Given the description of an element on the screen output the (x, y) to click on. 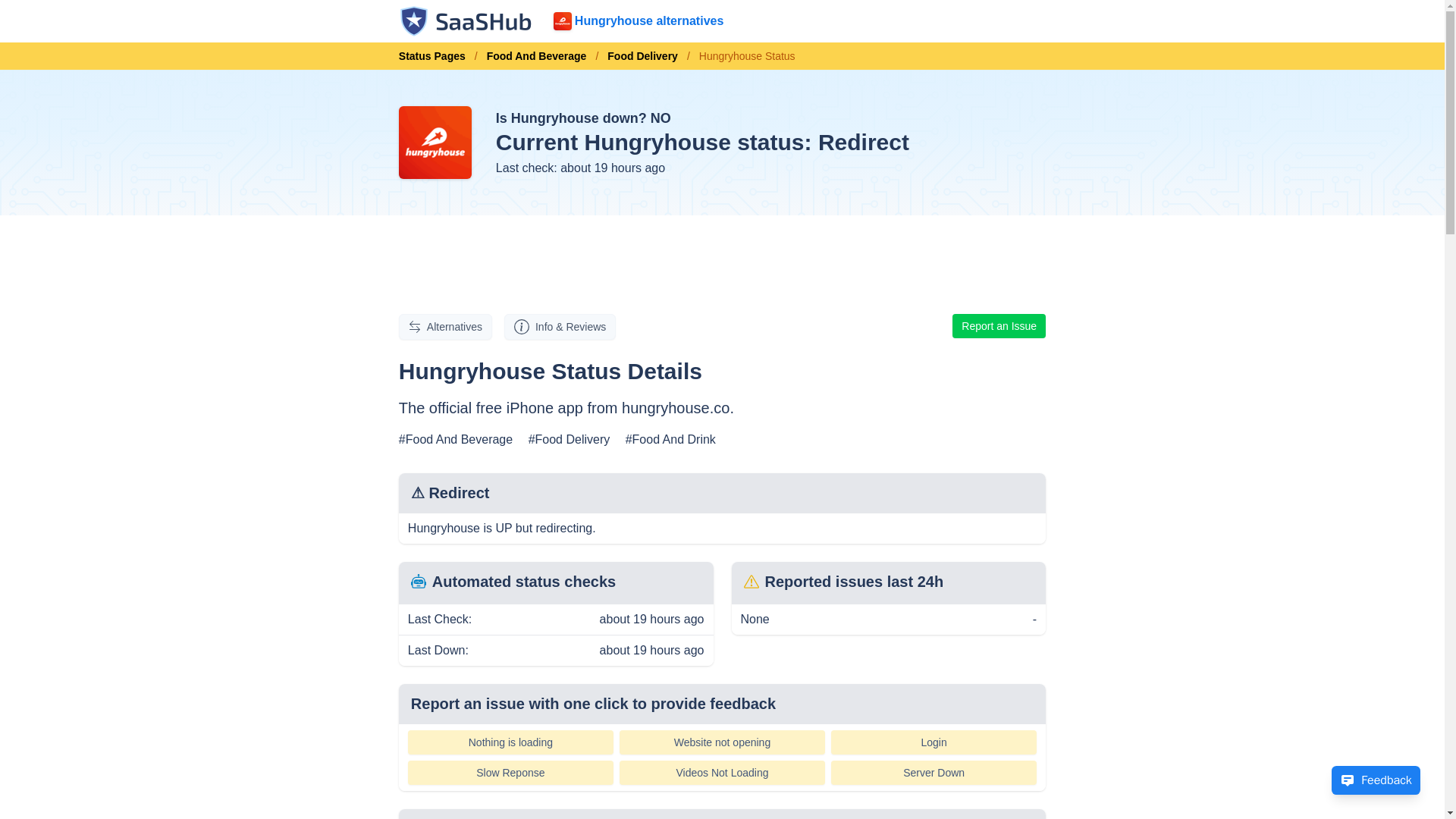
Login (933, 742)
Alternatives (445, 326)
Alternatives to Hungryhouse (445, 326)
Hungryhouse details and reviews (559, 326)
Food Delivery (642, 55)
Food And Beverage (536, 55)
Server Down (933, 772)
Hungryhouse alternatives (638, 21)
Nothing is loading (509, 742)
Report an Issue (998, 325)
Slow Reponse (509, 772)
Feedback (1376, 779)
Website not opening (722, 742)
Give feedback (1376, 779)
Status Pages (436, 55)
